Given the description of an element on the screen output the (x, y) to click on. 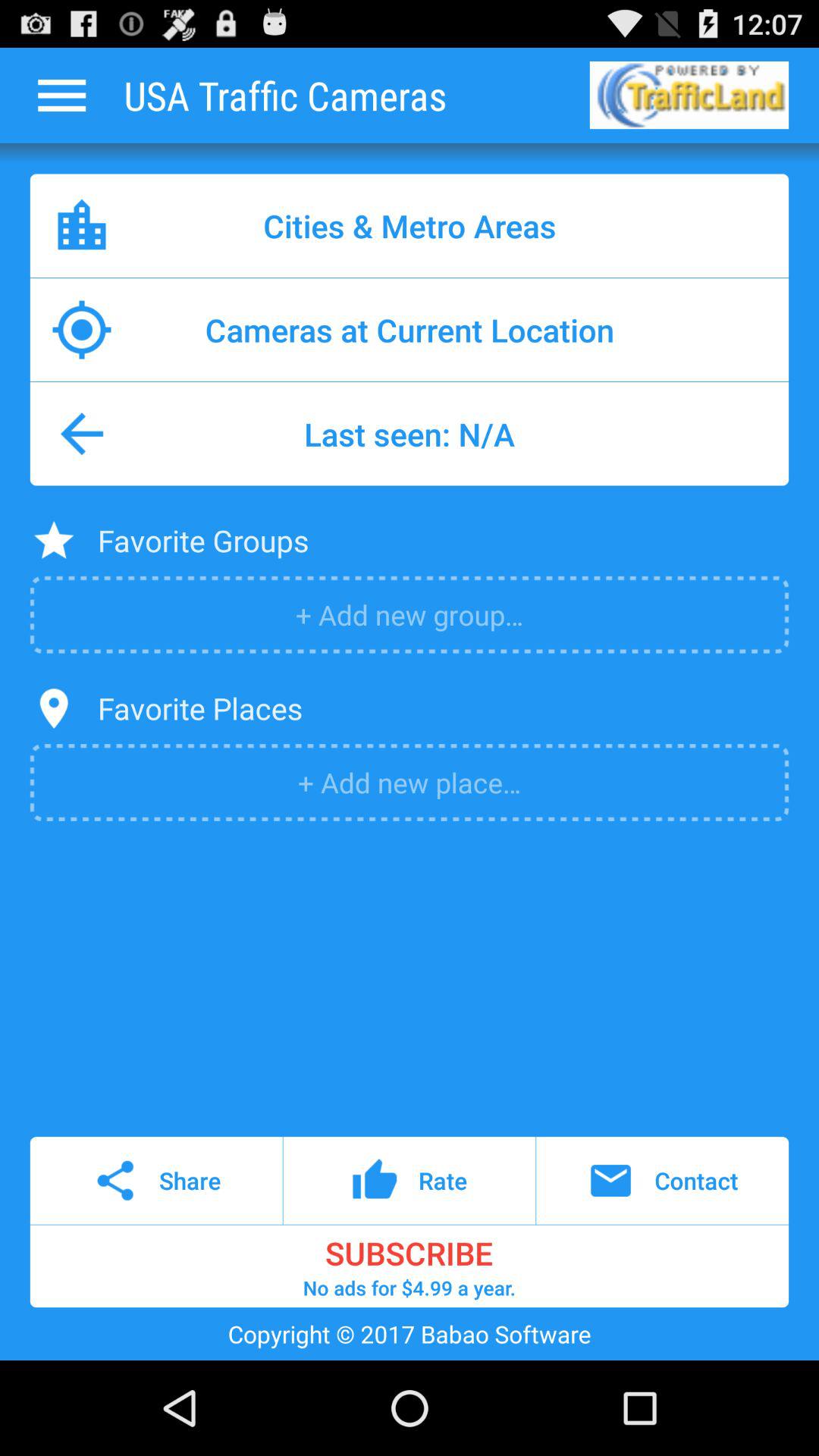
launch item next to the cameras at current item (736, 329)
